Given the description of an element on the screen output the (x, y) to click on. 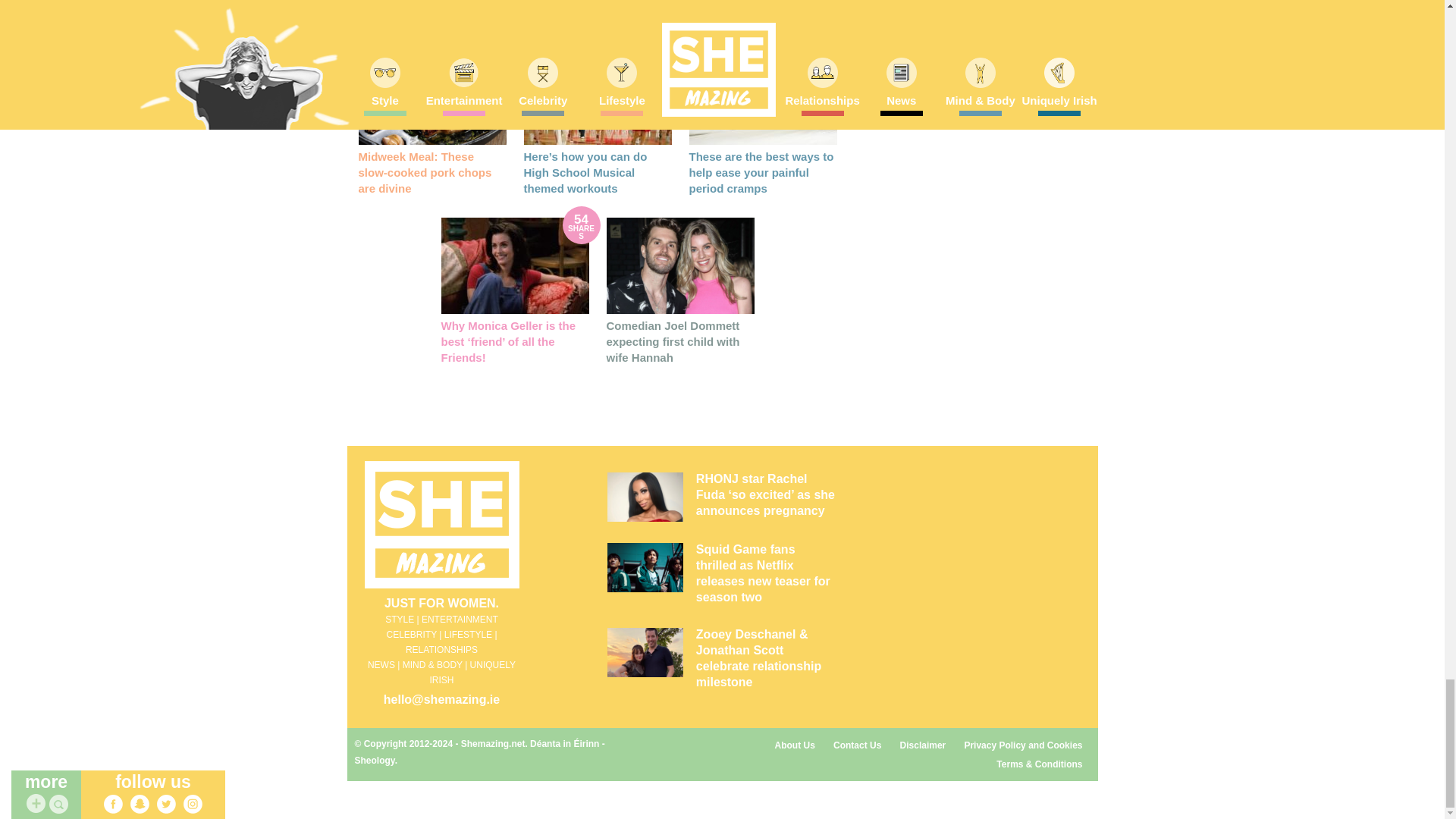
Comedian Joel Dommett expecting first child with wife Hannah (680, 265)
Comedian Joel Dommett expecting first child with wife Hannah (673, 341)
Midweek Meal: These slow-cooked pork chops are divine (425, 171)
Midweek Meal: These slow-cooked pork chops are divine (431, 96)
